Given the description of an element on the screen output the (x, y) to click on. 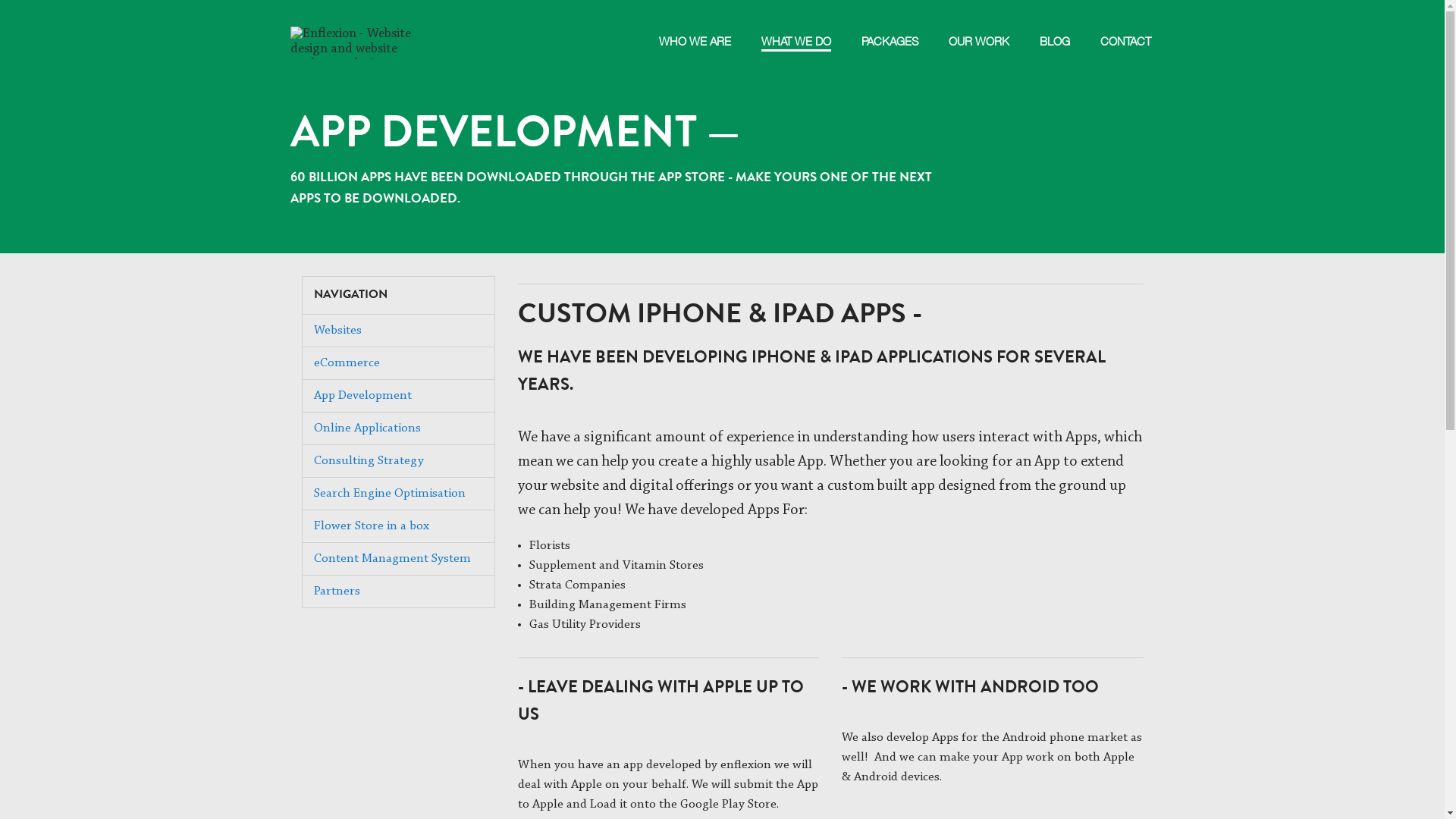
eCommerce Element type: text (346, 362)
Enflexion Element type: hover (365, 26)
Flower Store in a box Element type: text (371, 525)
Websites Element type: text (337, 329)
PACKAGES Element type: text (889, 24)
WHO WE ARE Element type: text (694, 24)
Online Applications Element type: text (366, 427)
CONTACT Element type: text (1124, 24)
Search Engine Optimisation Element type: text (389, 492)
App Development Element type: text (362, 395)
Content Managment System Element type: text (391, 558)
Consulting Strategy Element type: text (368, 460)
Partners Element type: text (336, 590)
WHAT WE DO Element type: text (796, 25)
OUR WORK Element type: text (977, 24)
BLOG Element type: text (1053, 24)
